Given the description of an element on the screen output the (x, y) to click on. 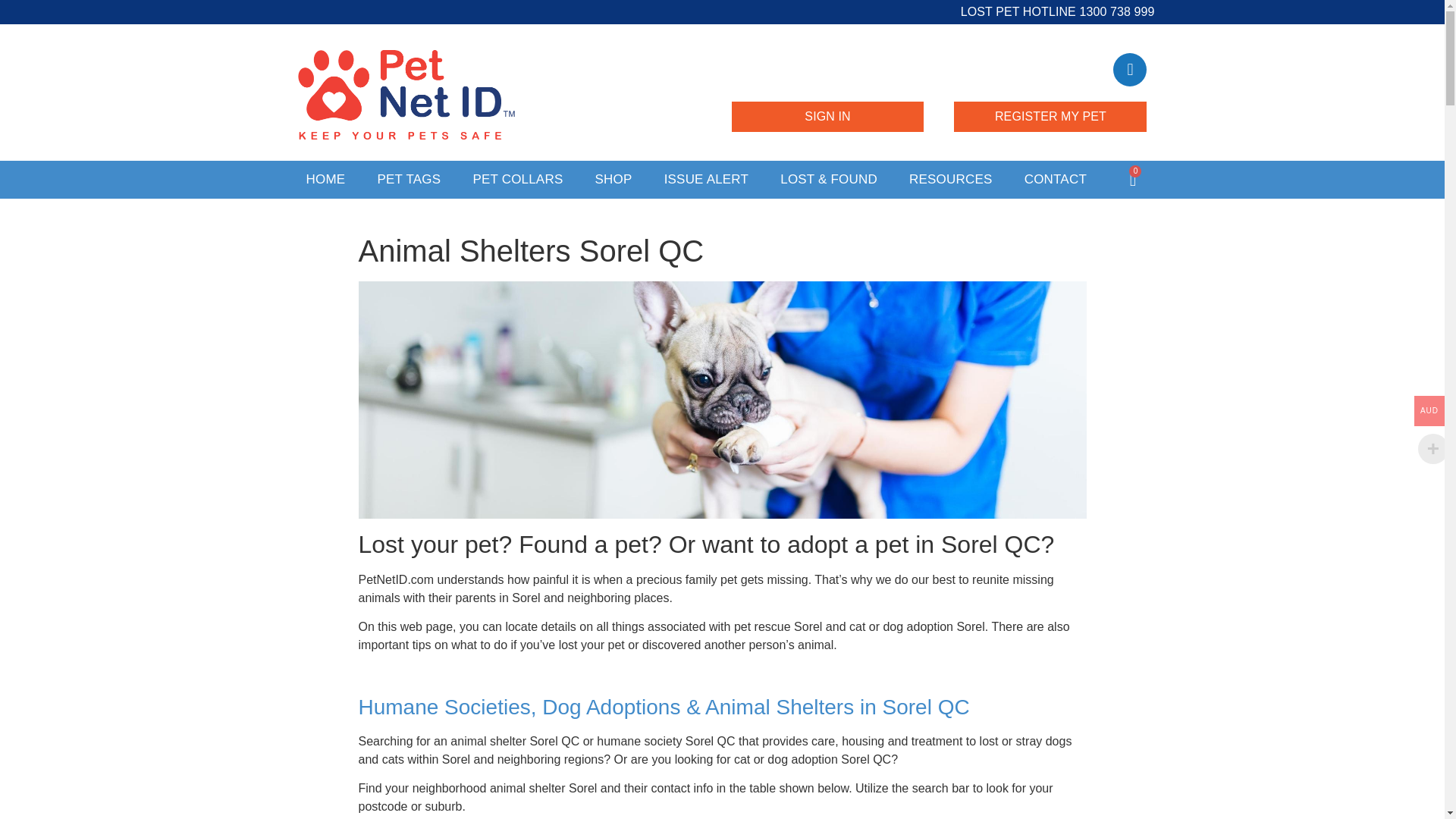
REGISTER MY PET (1050, 116)
ISSUE ALERT (706, 179)
PET TAGS (409, 179)
RESOURCES (951, 179)
HOME (325, 179)
CONTACT (1055, 179)
PET COLLARS (517, 179)
SHOP (612, 179)
SIGN IN (826, 116)
